Given the description of an element on the screen output the (x, y) to click on. 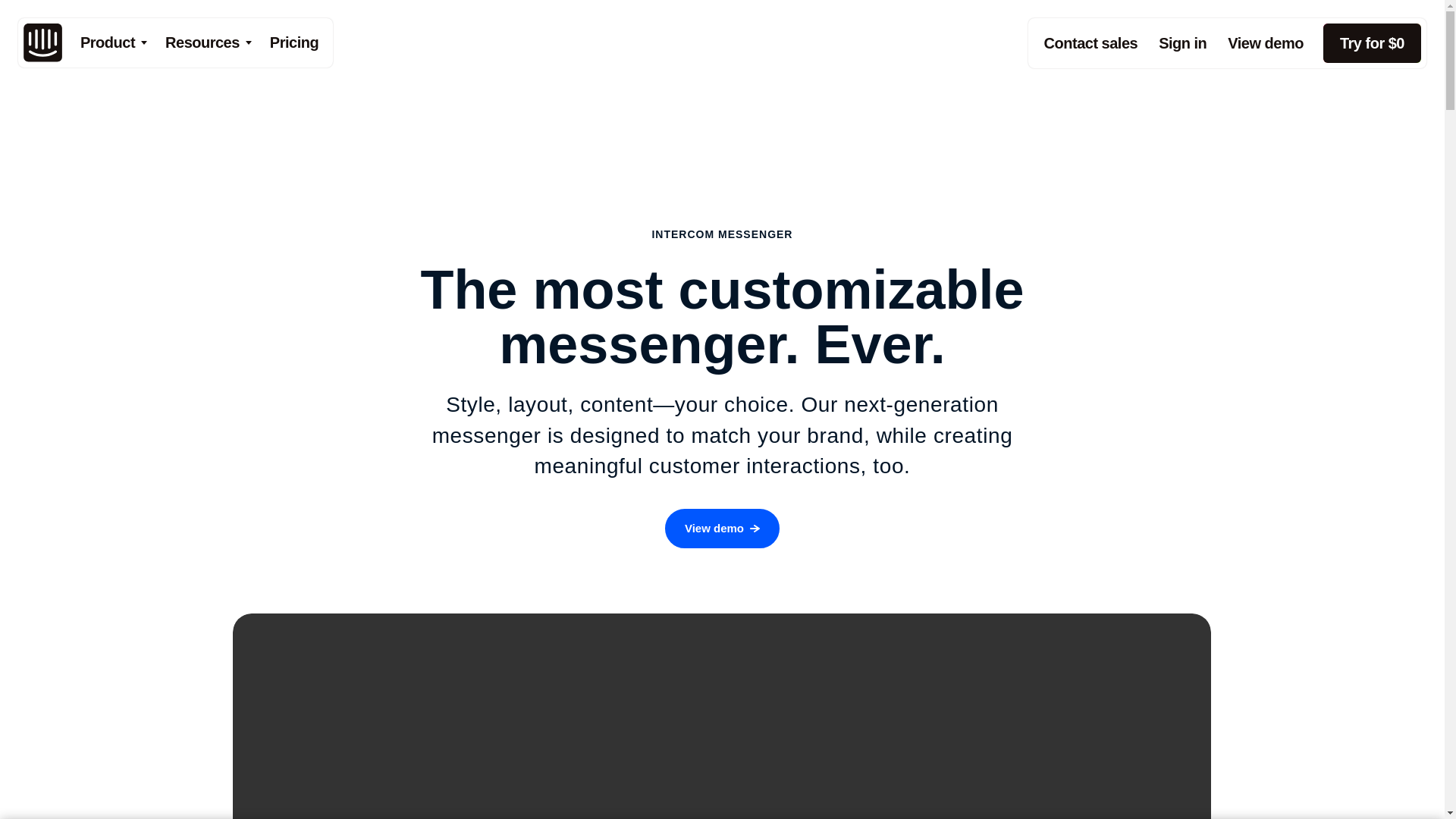
View demo (1265, 43)
Pricing (293, 42)
Product (113, 42)
Sign in (1182, 43)
Contact sales (1090, 43)
Resources (207, 42)
View demo (721, 527)
